Given the description of an element on the screen output the (x, y) to click on. 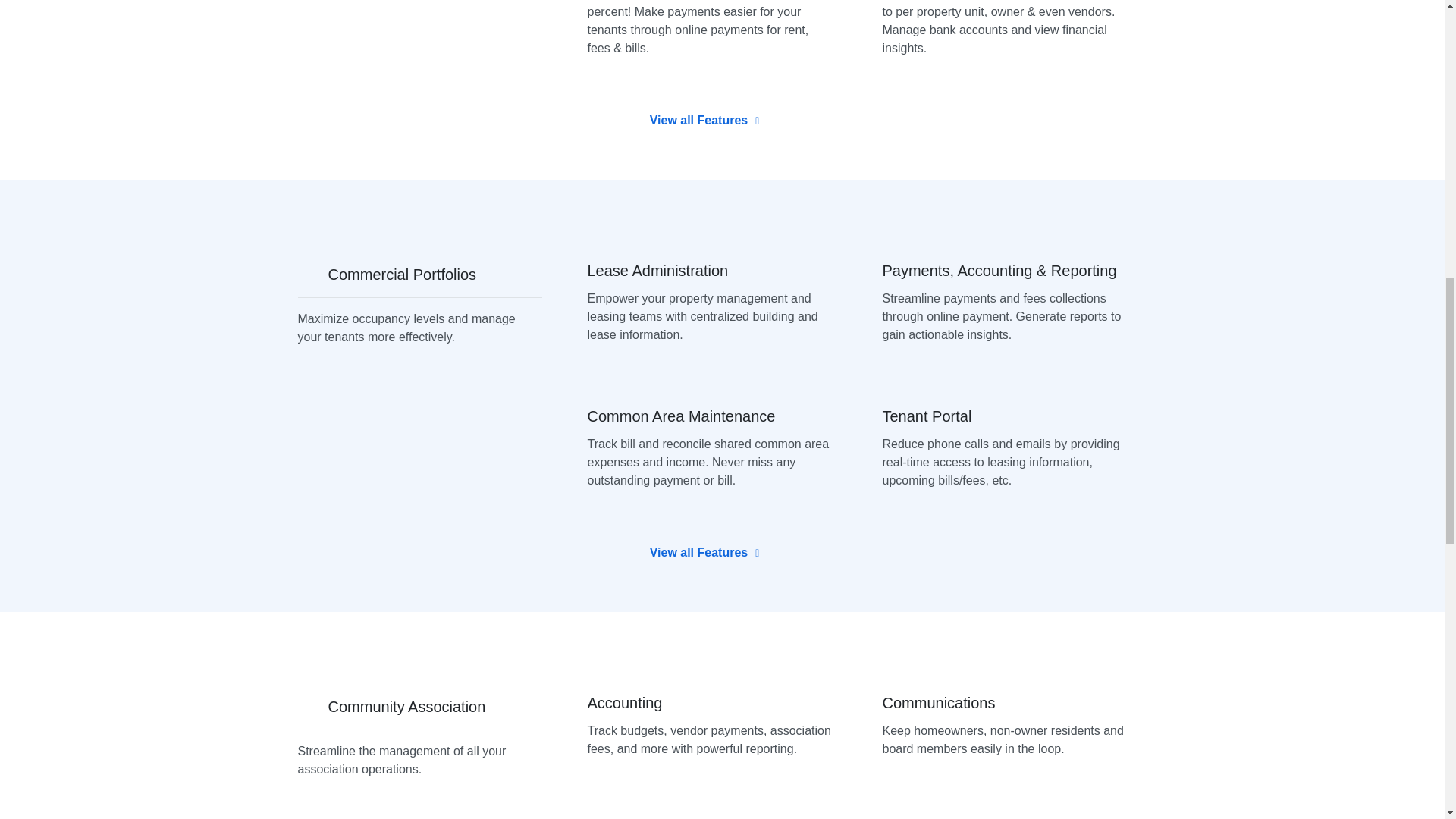
View all Features (704, 120)
View all Features (704, 552)
